Given the description of an element on the screen output the (x, y) to click on. 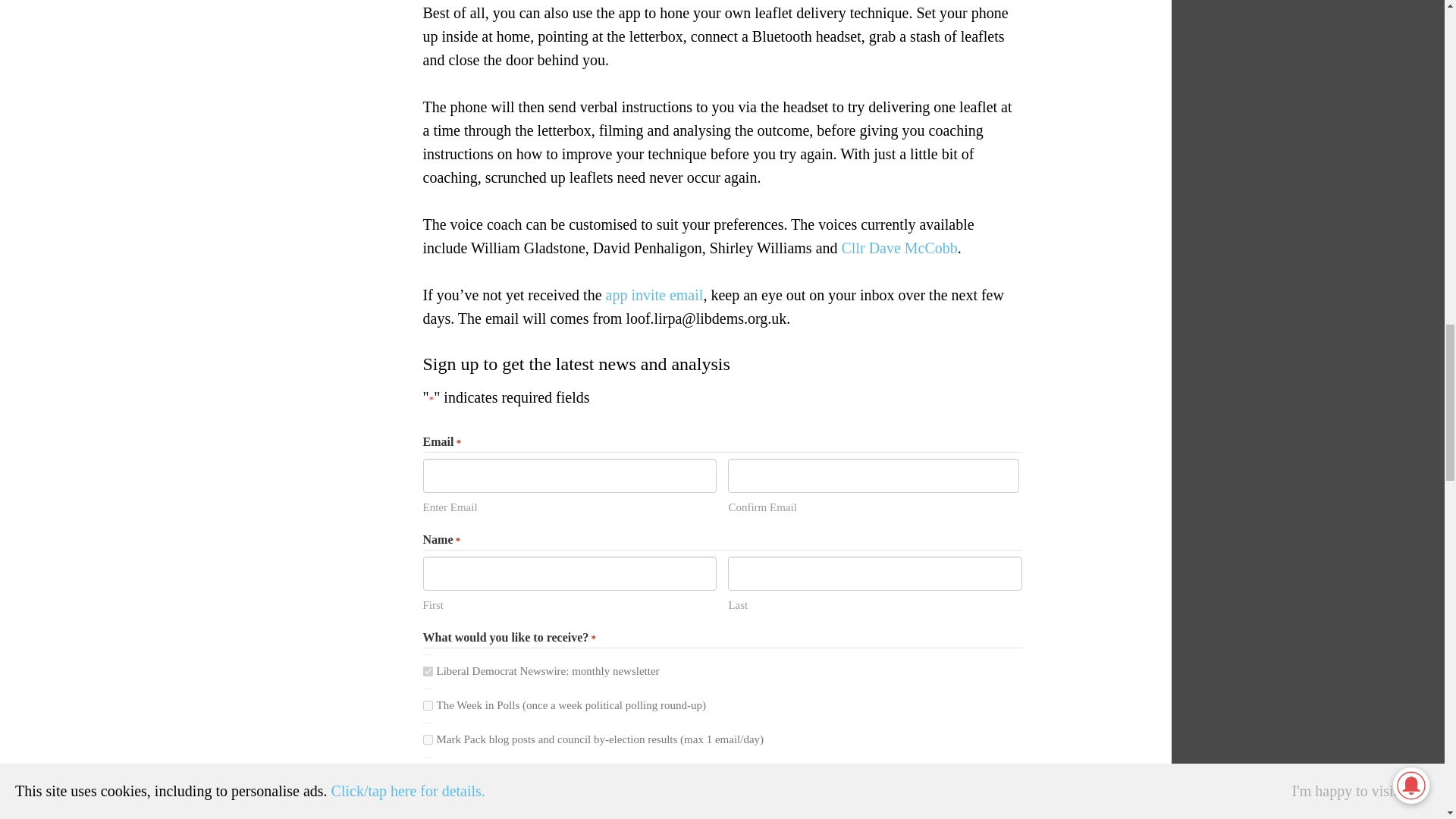
mpblog (427, 739)
app invite email (654, 294)
Cllr Dave McCobb (899, 247)
scot (427, 805)
ldn (427, 671)
ldnews (427, 773)
twip (427, 705)
